Given the description of an element on the screen output the (x, y) to click on. 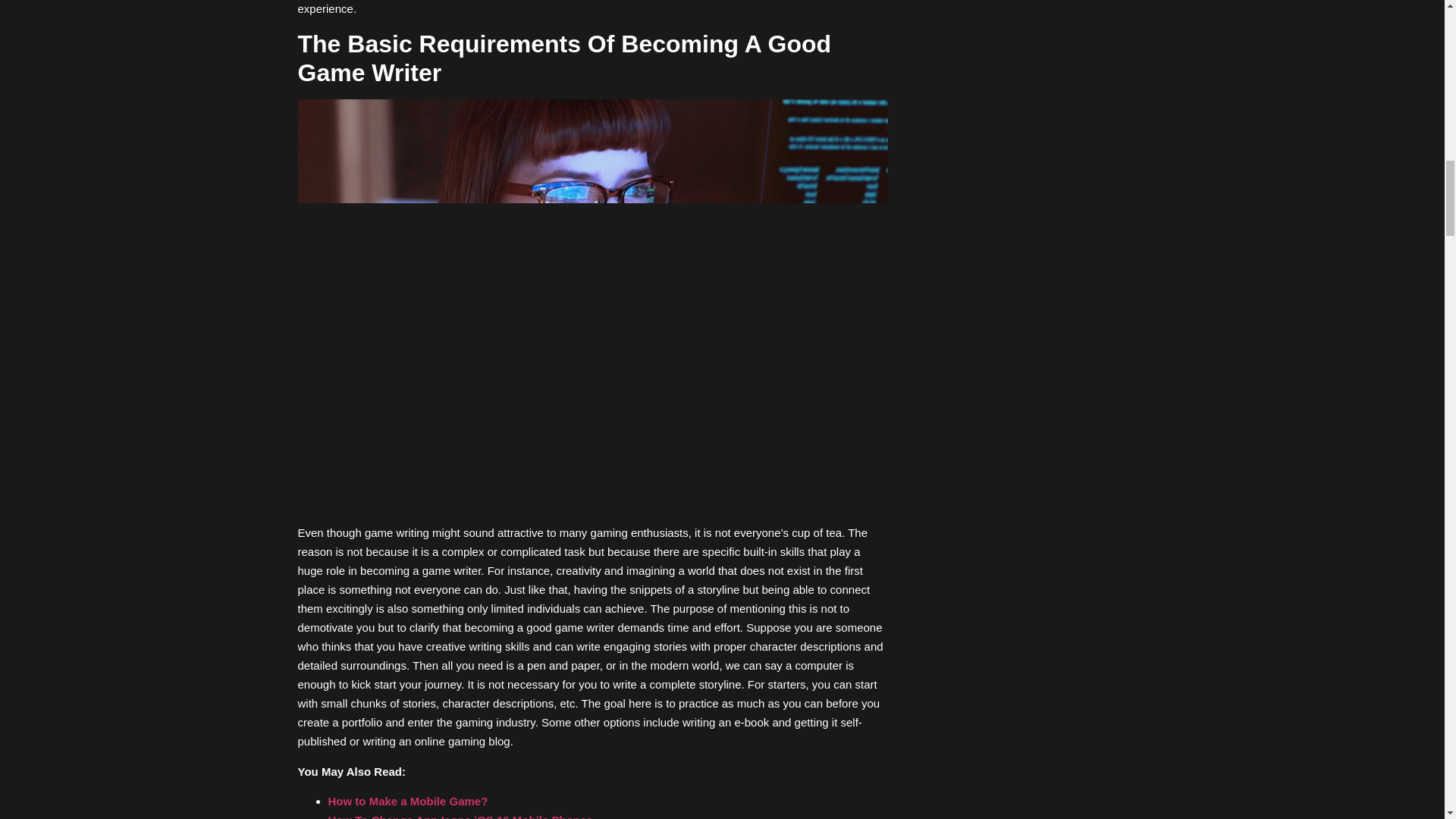
How To Change App Icons iOS 16 Mobile Phones (459, 816)
How to Make a Mobile Game? (407, 800)
